Given the description of an element on the screen output the (x, y) to click on. 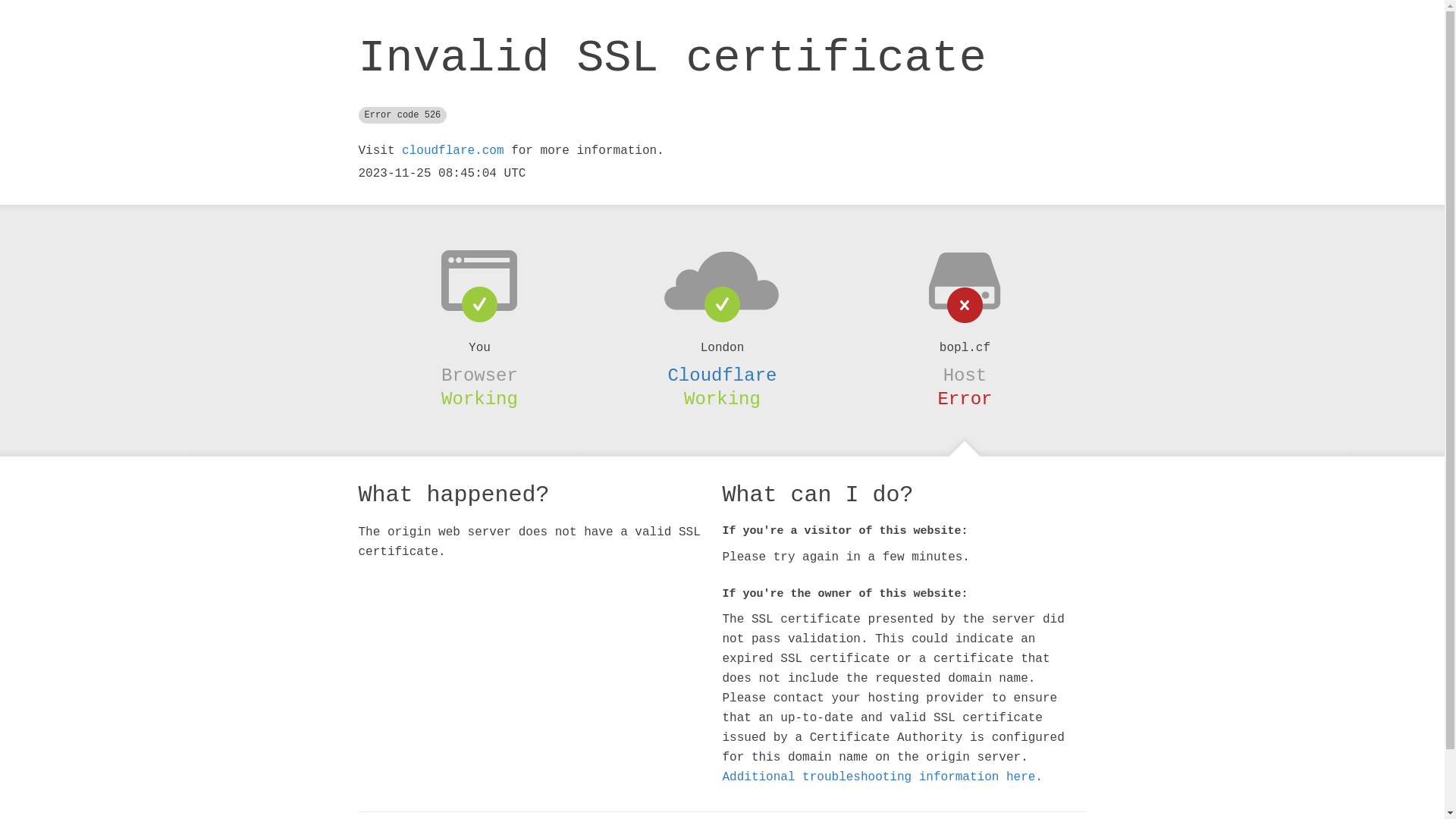
Cloudflare Element type: text (721, 375)
cloudflare.com Element type: text (452, 150)
Additional troubleshooting information here. Element type: text (881, 777)
